Given the description of an element on the screen output the (x, y) to click on. 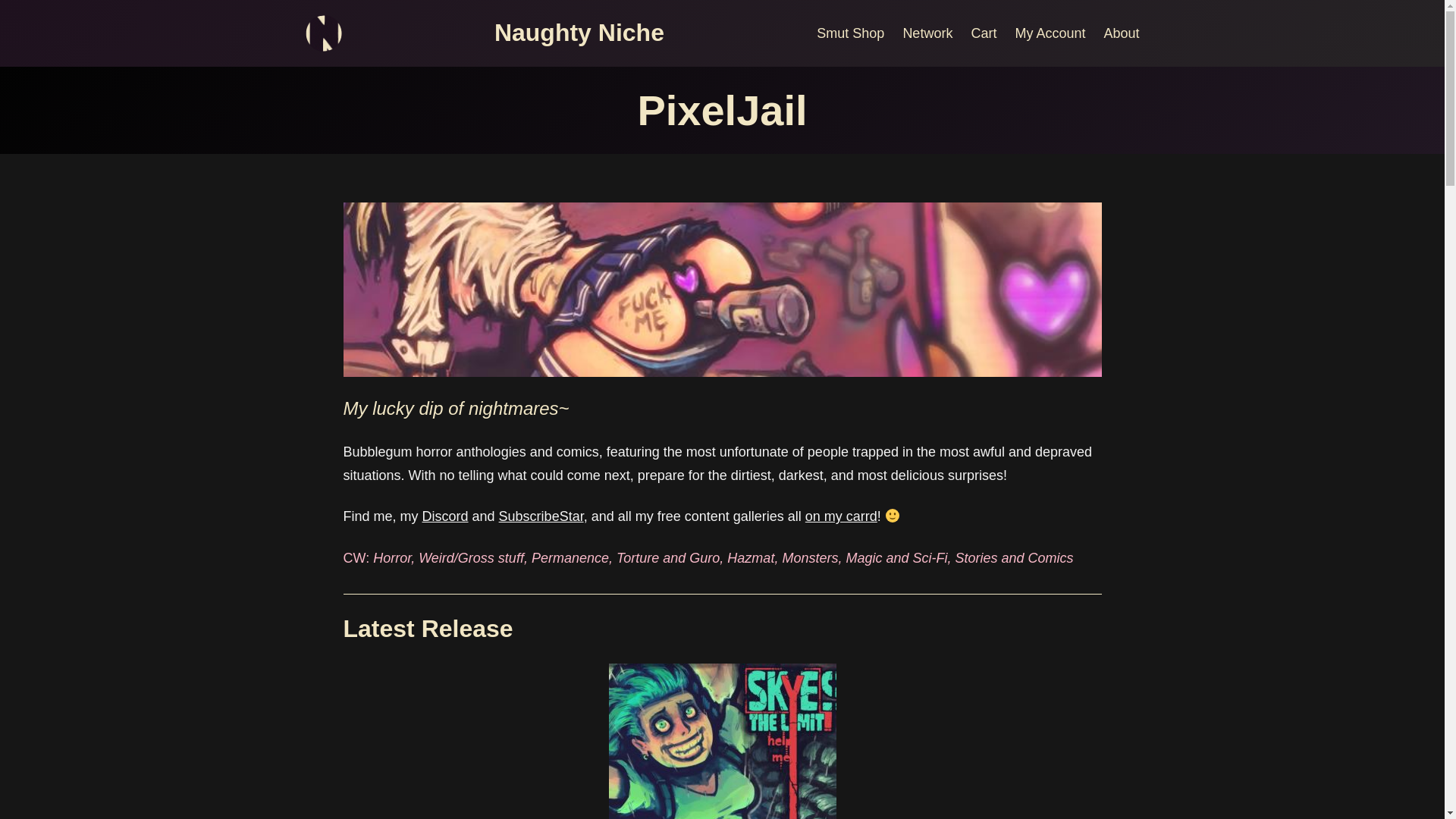
on my carrd (841, 516)
My Account (1049, 33)
Cart (983, 33)
Smut Shop (849, 33)
Discord (445, 516)
About (1120, 33)
SubscribeStar (541, 516)
Naughty Niche (579, 31)
Network (927, 33)
